Given the description of an element on the screen output the (x, y) to click on. 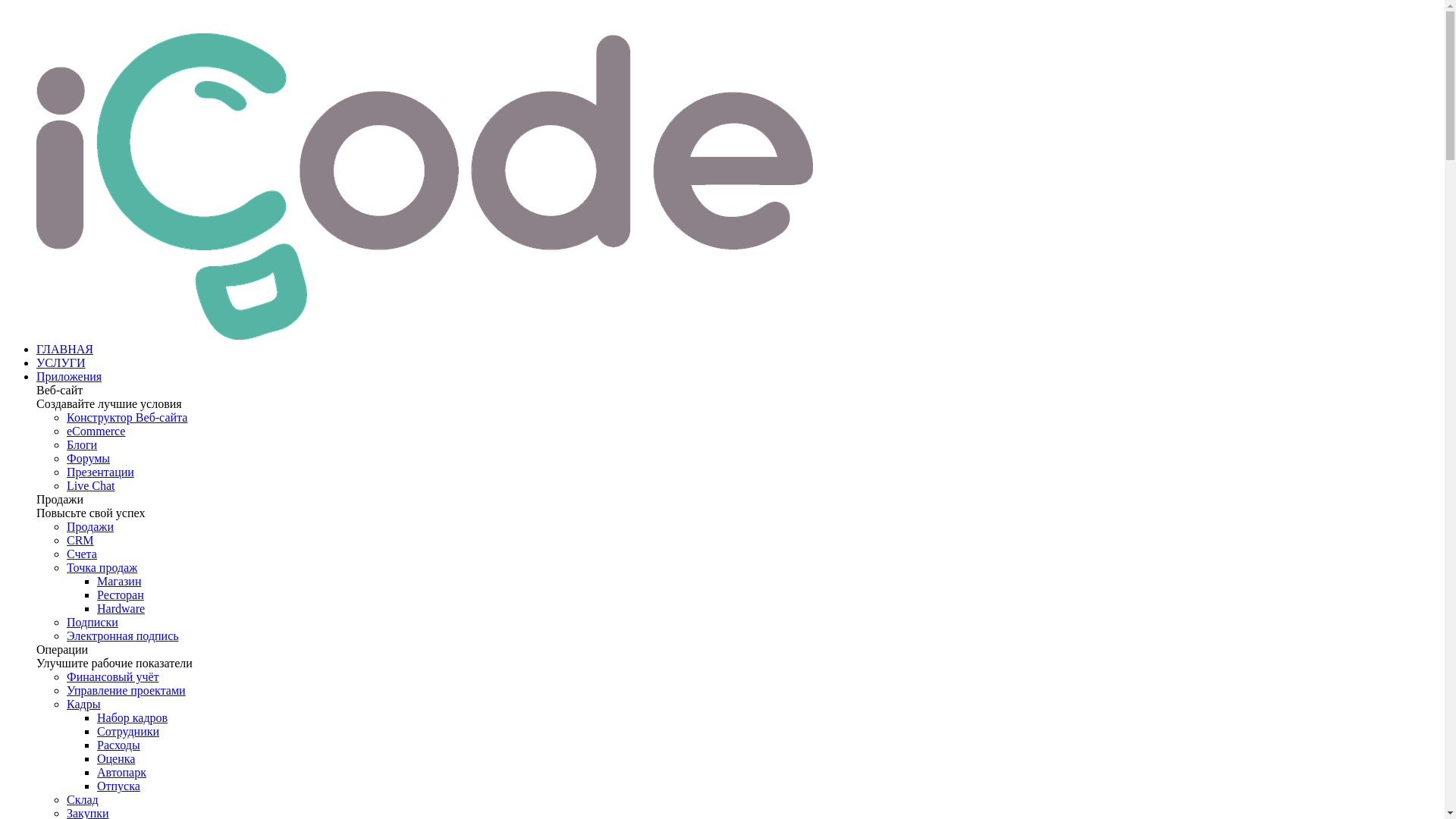
eCommerce Element type: text (95, 430)
Hardware Element type: text (120, 608)
CRM Element type: text (80, 539)
Live Chat Element type: text (90, 485)
